Given the description of an element on the screen output the (x, y) to click on. 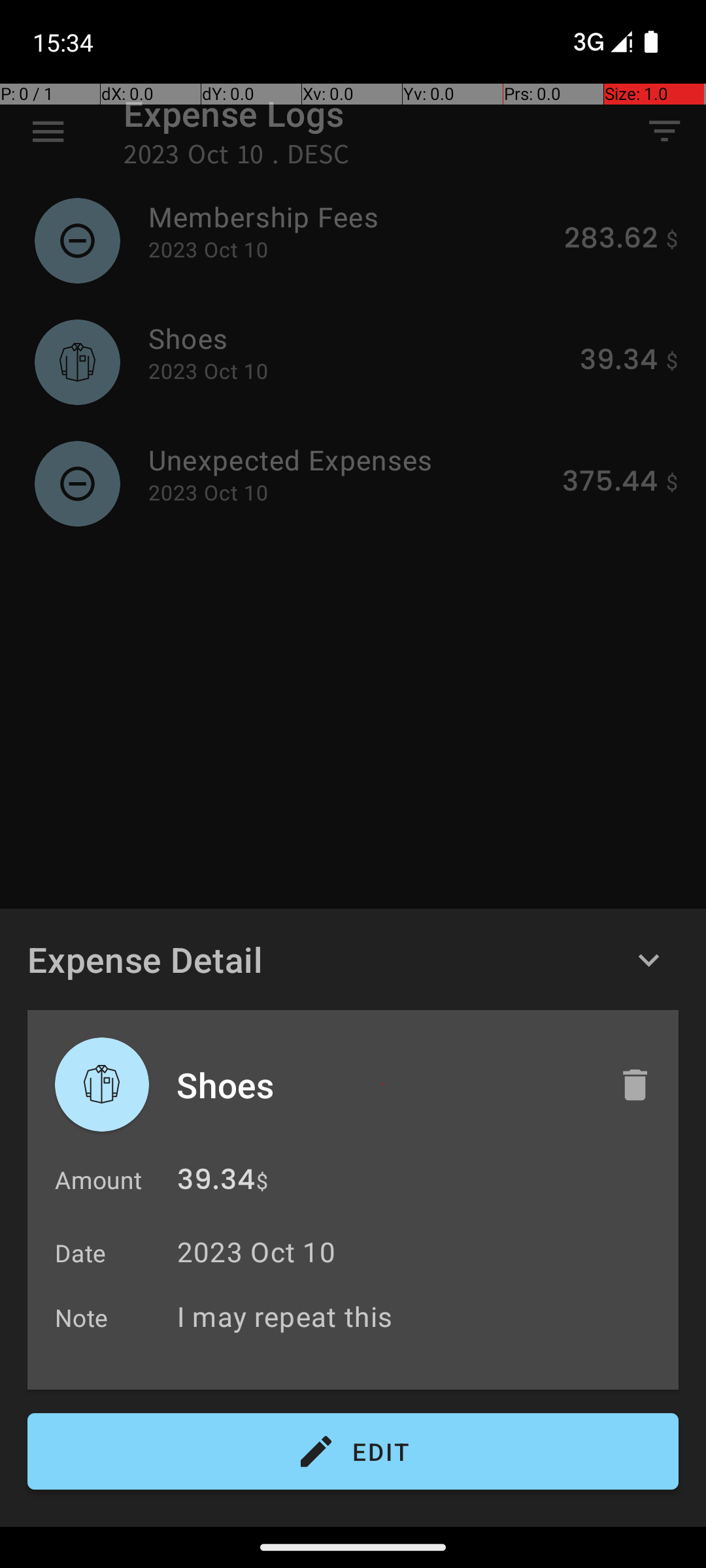
Shoes Element type: android.widget.TextView (383, 1084)
39.34 Element type: android.widget.TextView (215, 1182)
$ Element type: android.widget.TextView (261, 1180)
